Given the description of an element on the screen output the (x, y) to click on. 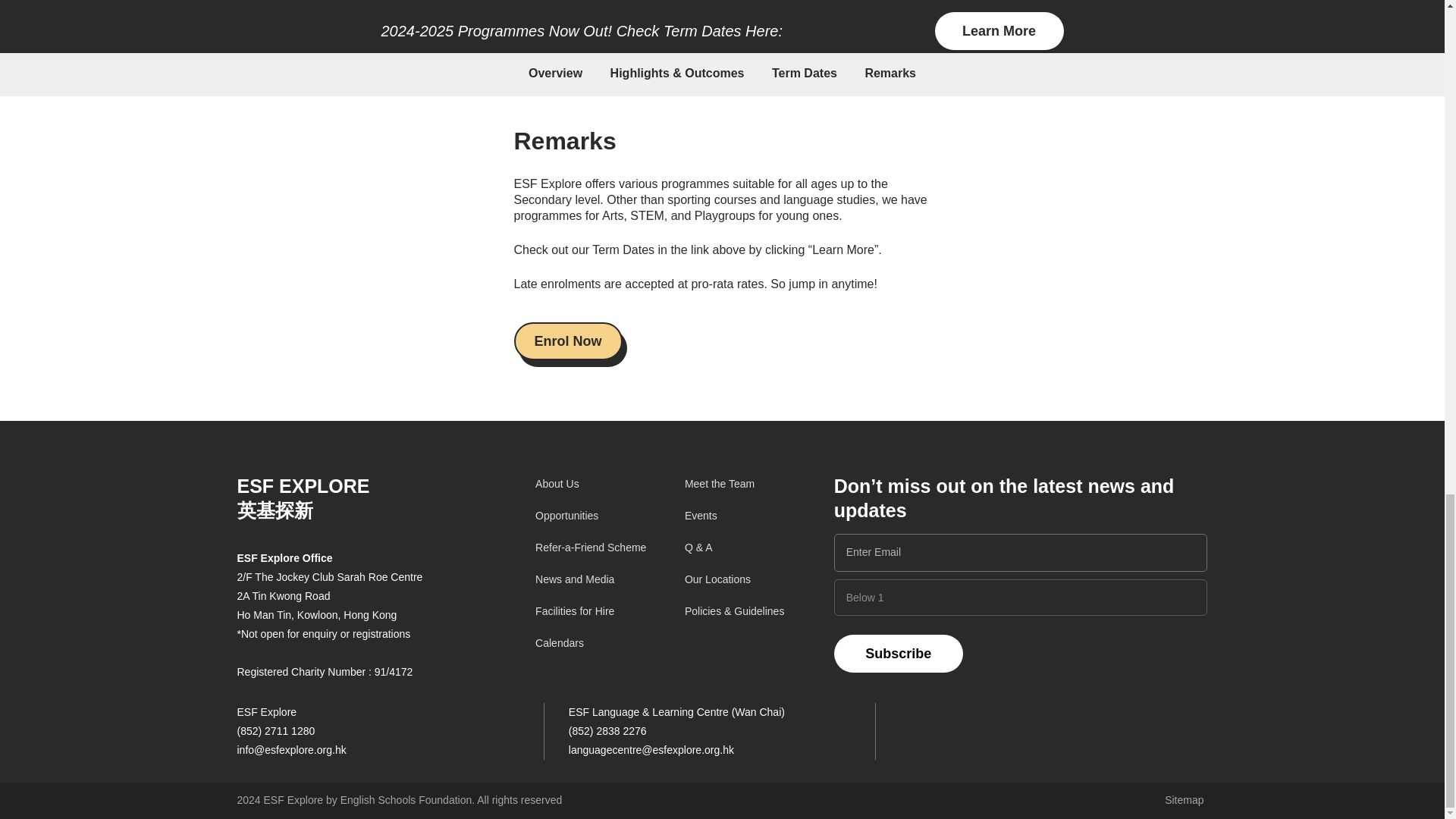
Subscribe (898, 653)
